Given the description of an element on the screen output the (x, y) to click on. 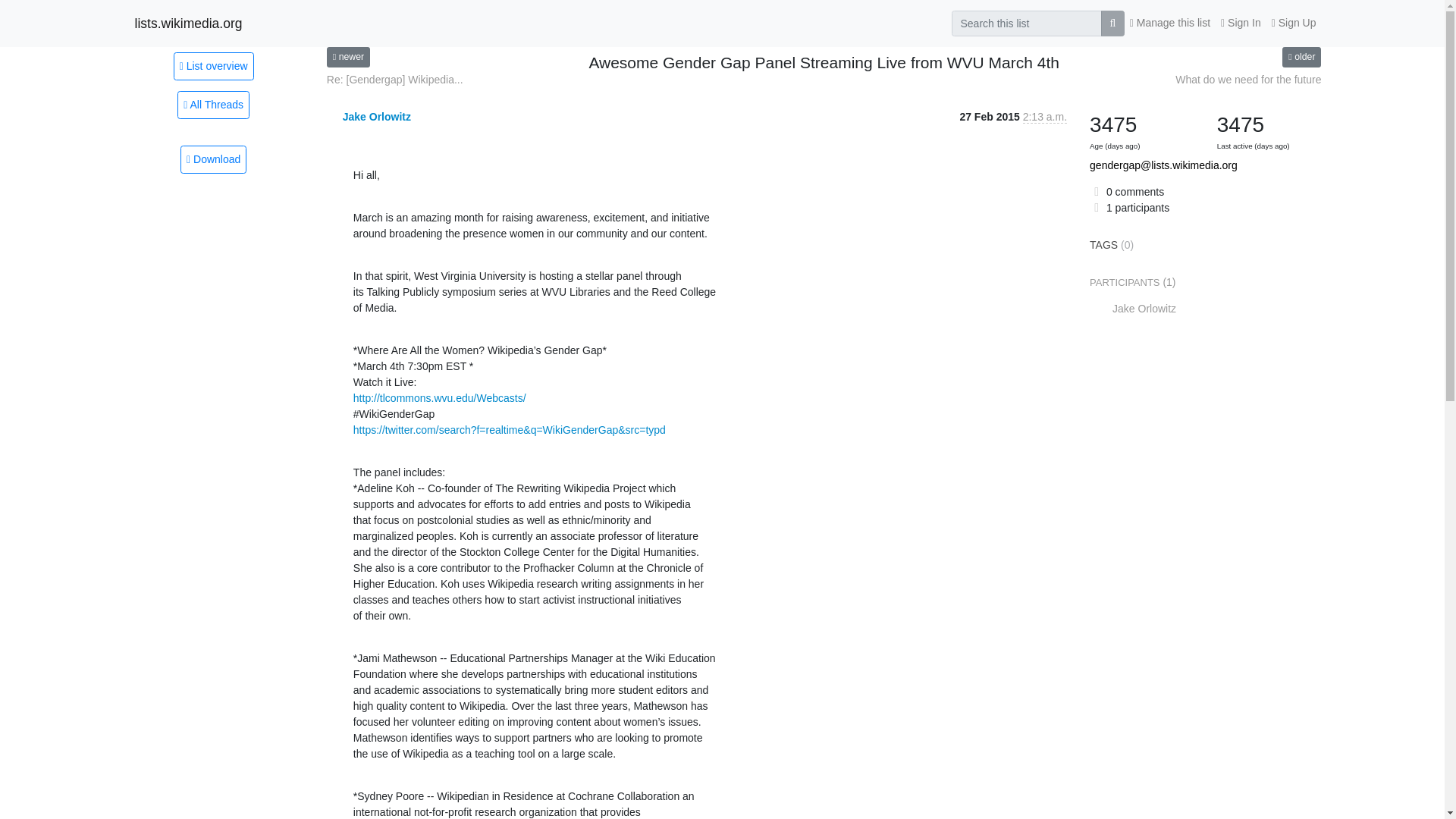
Manage this list (1169, 22)
See the profile for Jake Orlowitz (376, 116)
Sign In (1240, 22)
All Threads (212, 104)
older (1301, 56)
Sender's time: Feb. 26, 2015, 10:13 a.m. (1045, 116)
lists.wikimedia.org (189, 22)
This thread in gzipped mbox format (213, 159)
List overview (213, 65)
What do we need for the future (1247, 79)
